Given the description of an element on the screen output the (x, y) to click on. 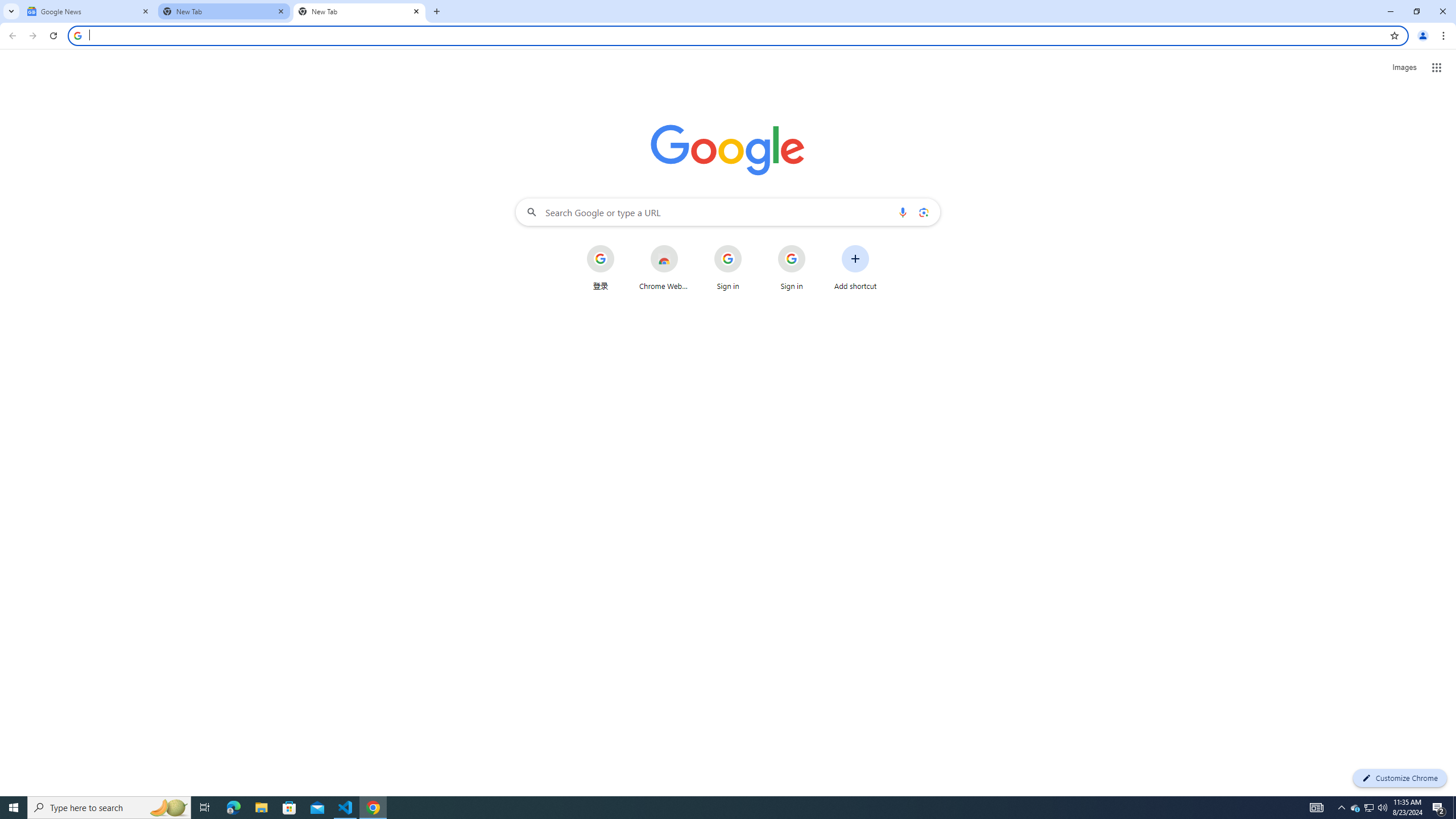
More actions for Chrome Web Store shortcut (686, 245)
Chrome Web Store (663, 267)
Search by image (922, 212)
Search Google or type a URL (727, 212)
New Tab (359, 11)
